Given the description of an element on the screen output the (x, y) to click on. 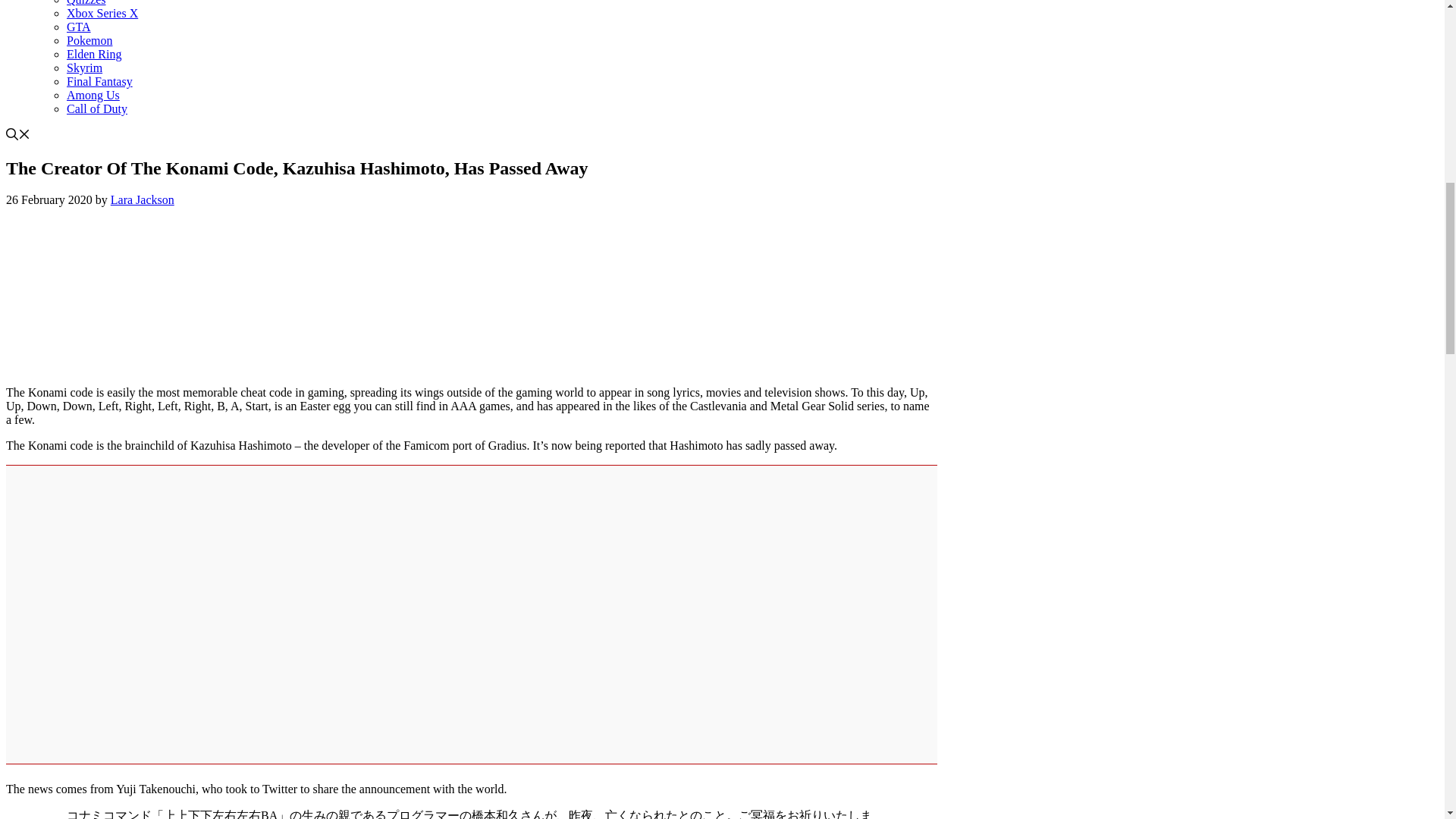
View all posts by Lara Jackson (142, 199)
